Given the description of an element on the screen output the (x, y) to click on. 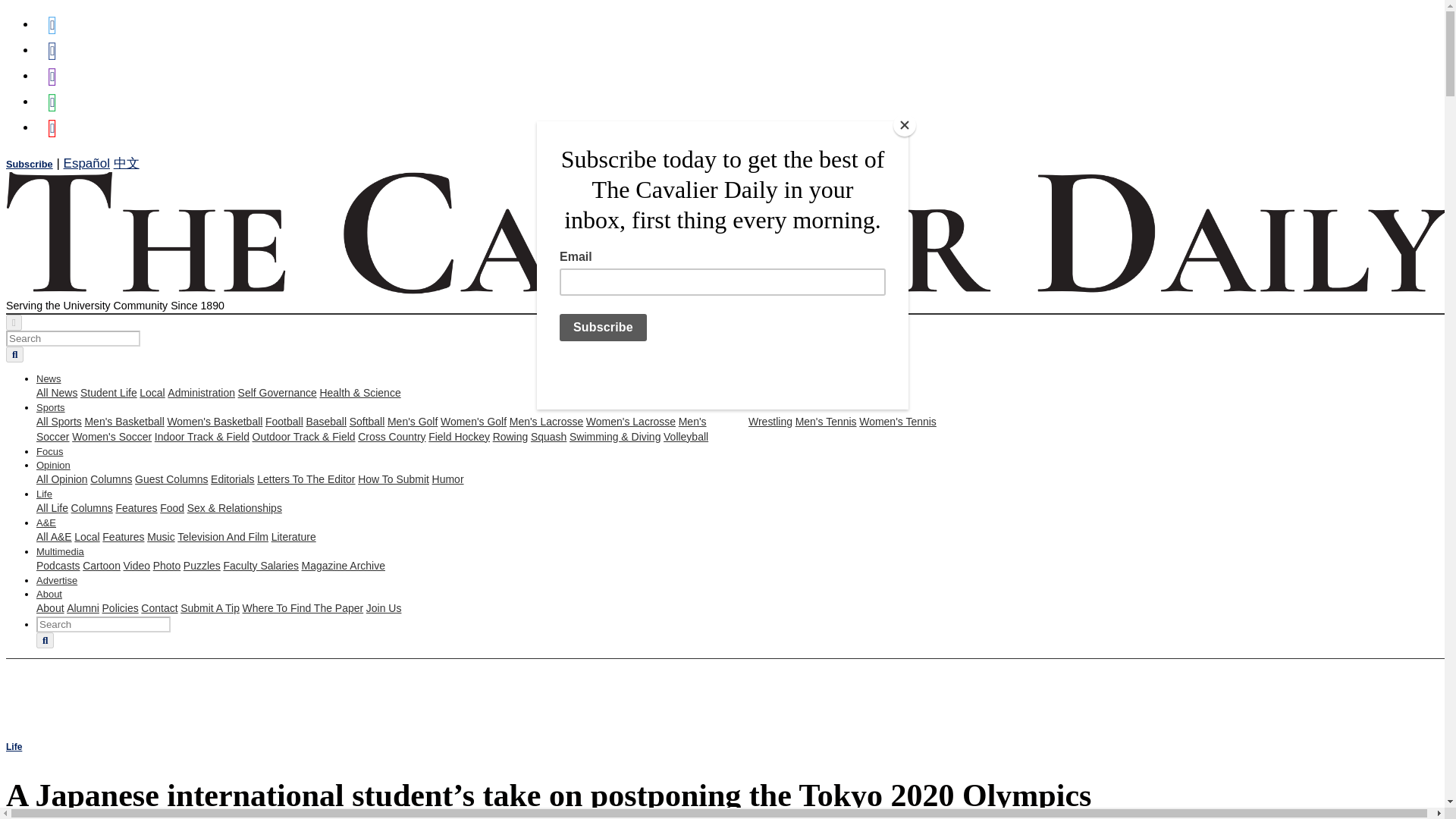
Student Life (108, 392)
Squash (548, 436)
Men'S Golf (412, 421)
Women'S Soccer (111, 436)
Wrestling (770, 421)
Baseball (325, 421)
Local (151, 392)
All Sports (58, 421)
All News (56, 392)
Sports (50, 407)
Men'S Soccer (371, 429)
Rowing (510, 436)
Women'S Lacrosse (630, 421)
Focus (49, 451)
Men'S Lacrosse (546, 421)
